Given the description of an element on the screen output the (x, y) to click on. 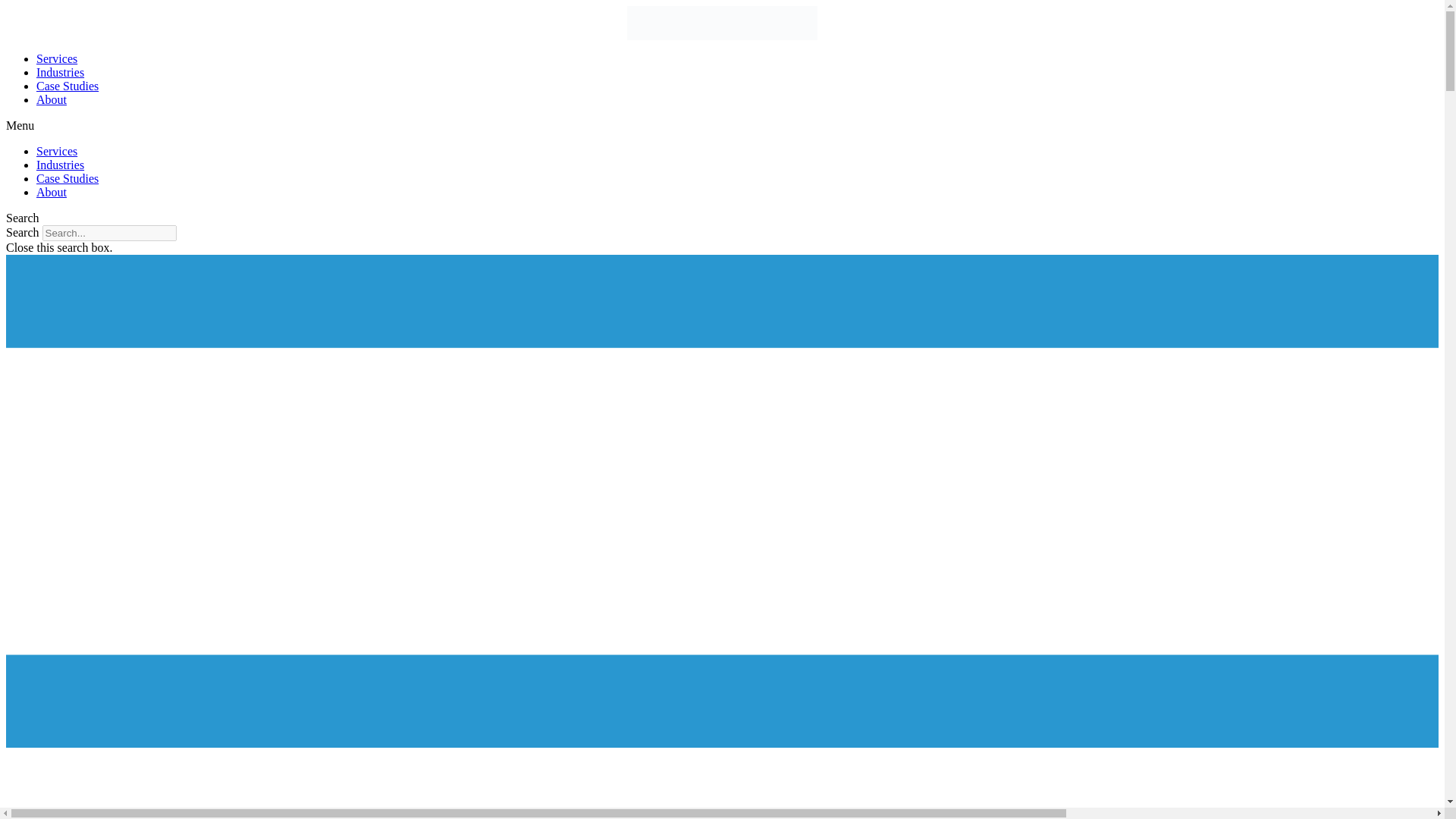
Industries (60, 164)
About (51, 99)
Services (56, 58)
Case Studies (67, 85)
Industries (60, 72)
About (51, 192)
Services (56, 151)
Case Studies (67, 178)
